Given the description of an element on the screen output the (x, y) to click on. 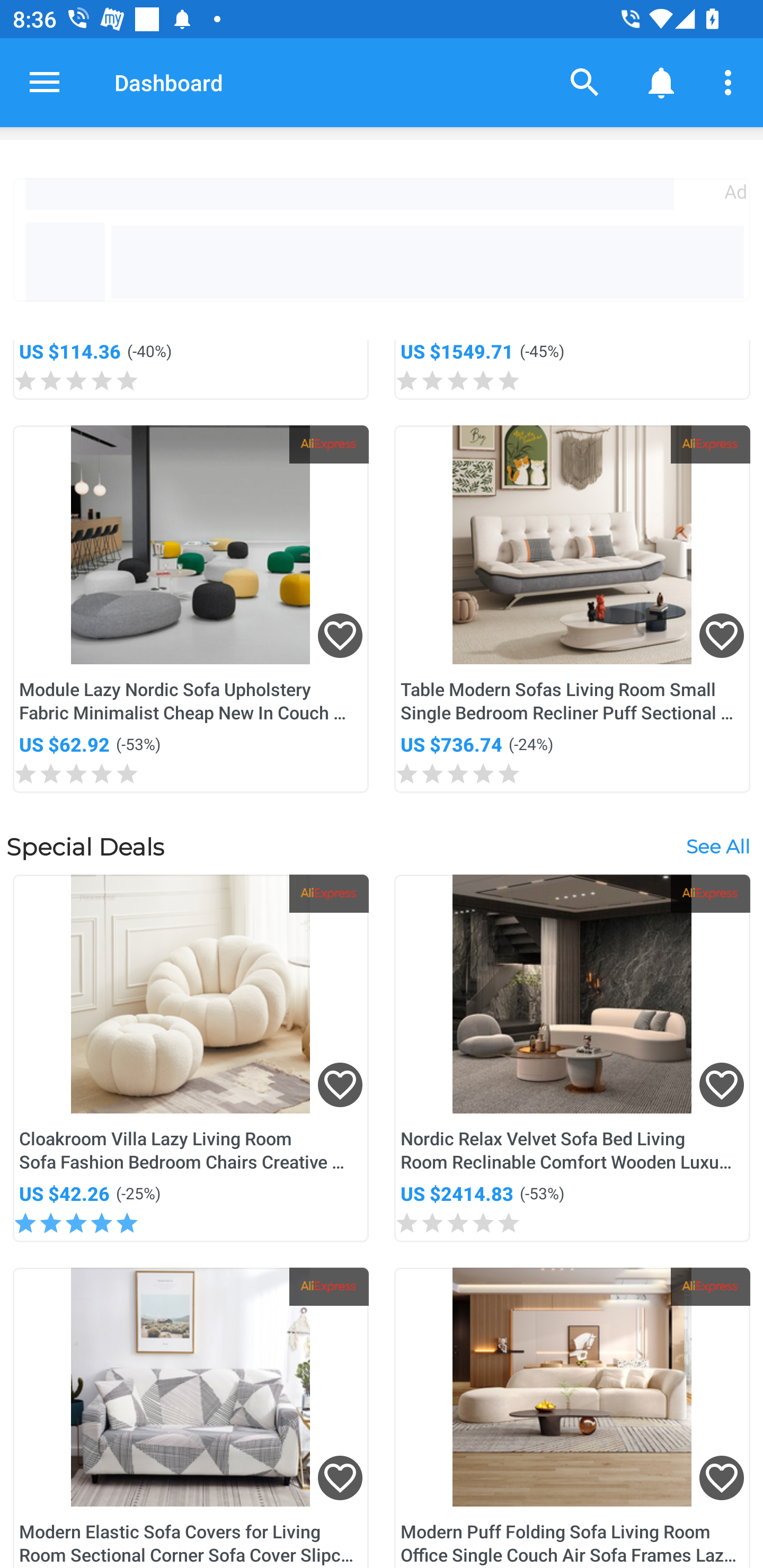
Open navigation drawer (44, 82)
Search (585, 81)
More options (731, 81)
US $114.36 (-40%) 0.0 (190, 369)
US $1549.71 (-45%) 0.0 (572, 369)
See All (717, 846)
